Given the description of an element on the screen output the (x, y) to click on. 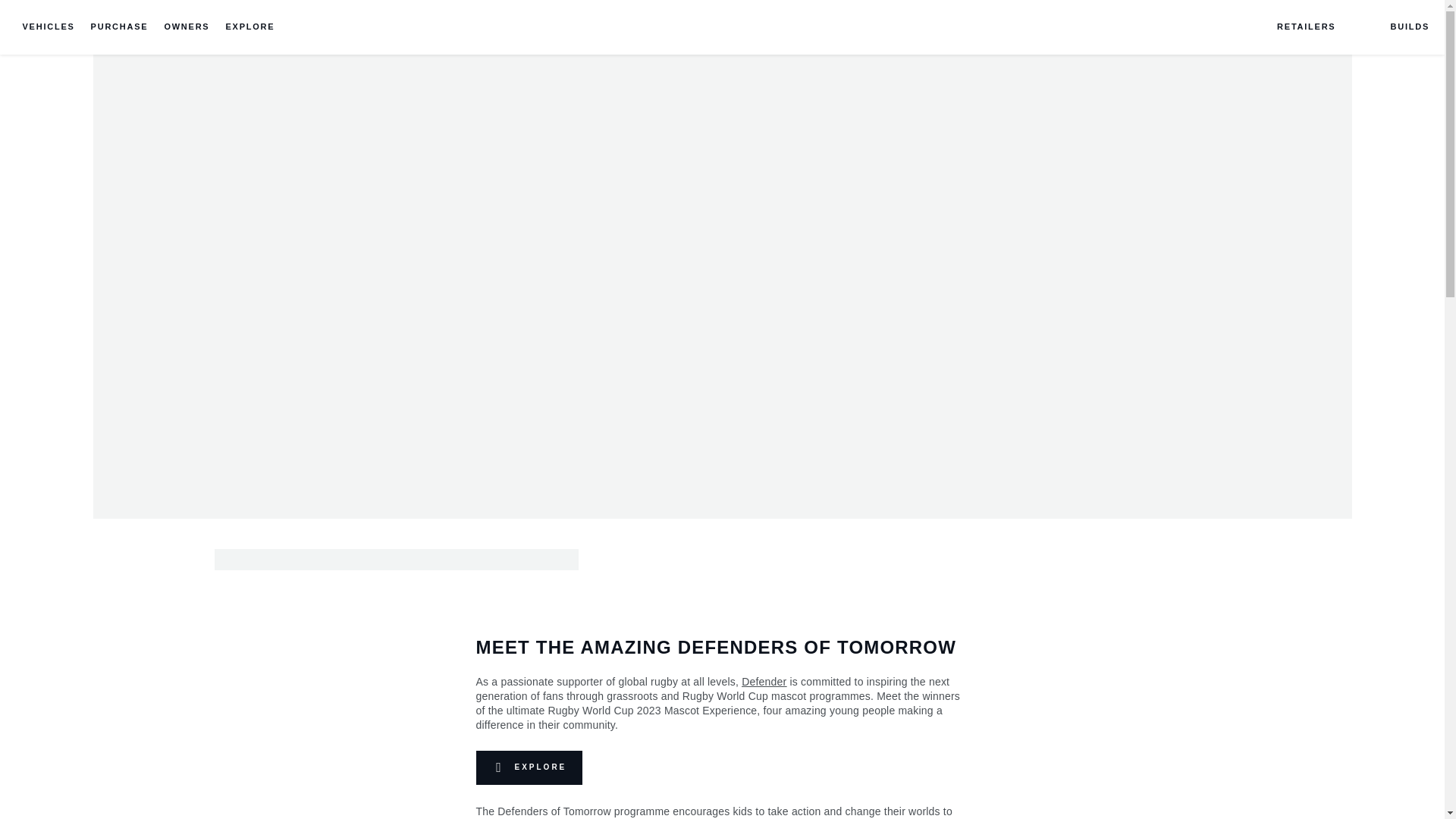
PURCHASE (118, 27)
EXPLORE (529, 767)
Defender (763, 681)
RETAILERS (1294, 27)
VEHICLES (48, 27)
OWNERS (185, 27)
EXPLORE (249, 27)
